Given the description of an element on the screen output the (x, y) to click on. 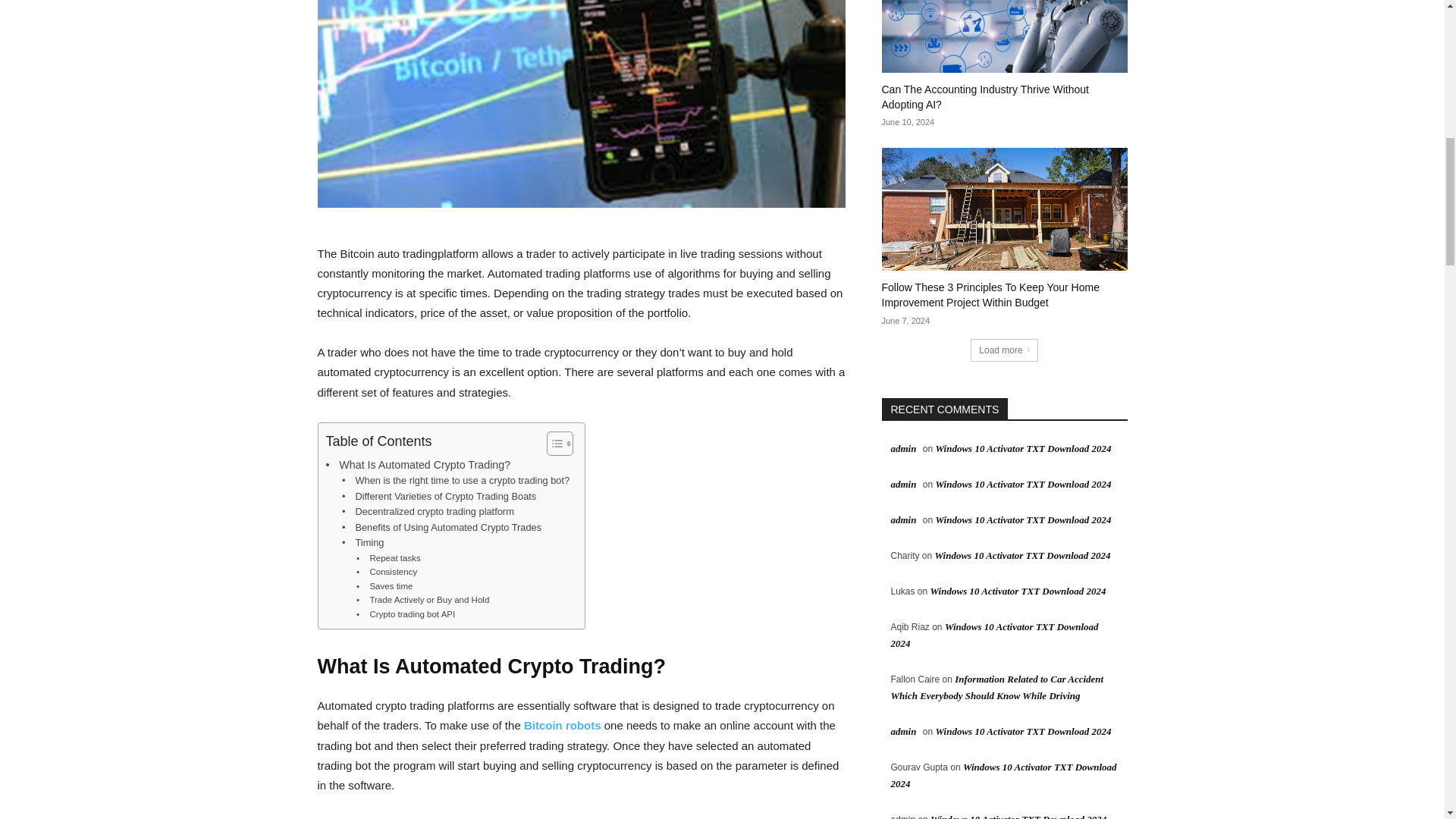
What Is Automated Crypto Trading? (418, 465)
When is the right time to use a crypto trading bot? (455, 480)
Different Varieties of Crypto Trading Boats (438, 496)
